Given the description of an element on the screen output the (x, y) to click on. 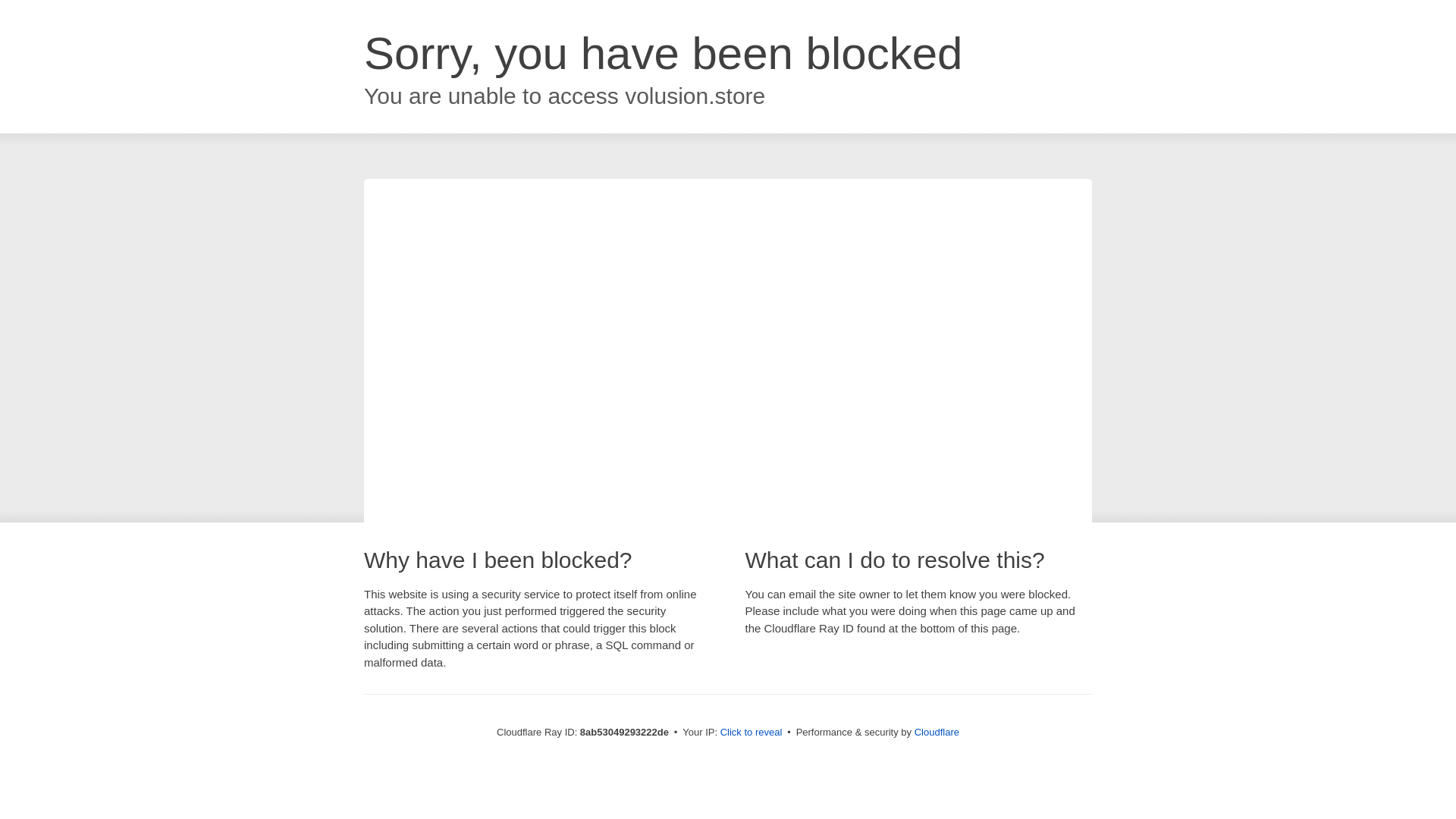
Click to reveal (751, 732)
Cloudflare (936, 731)
